Given the description of an element on the screen output the (x, y) to click on. 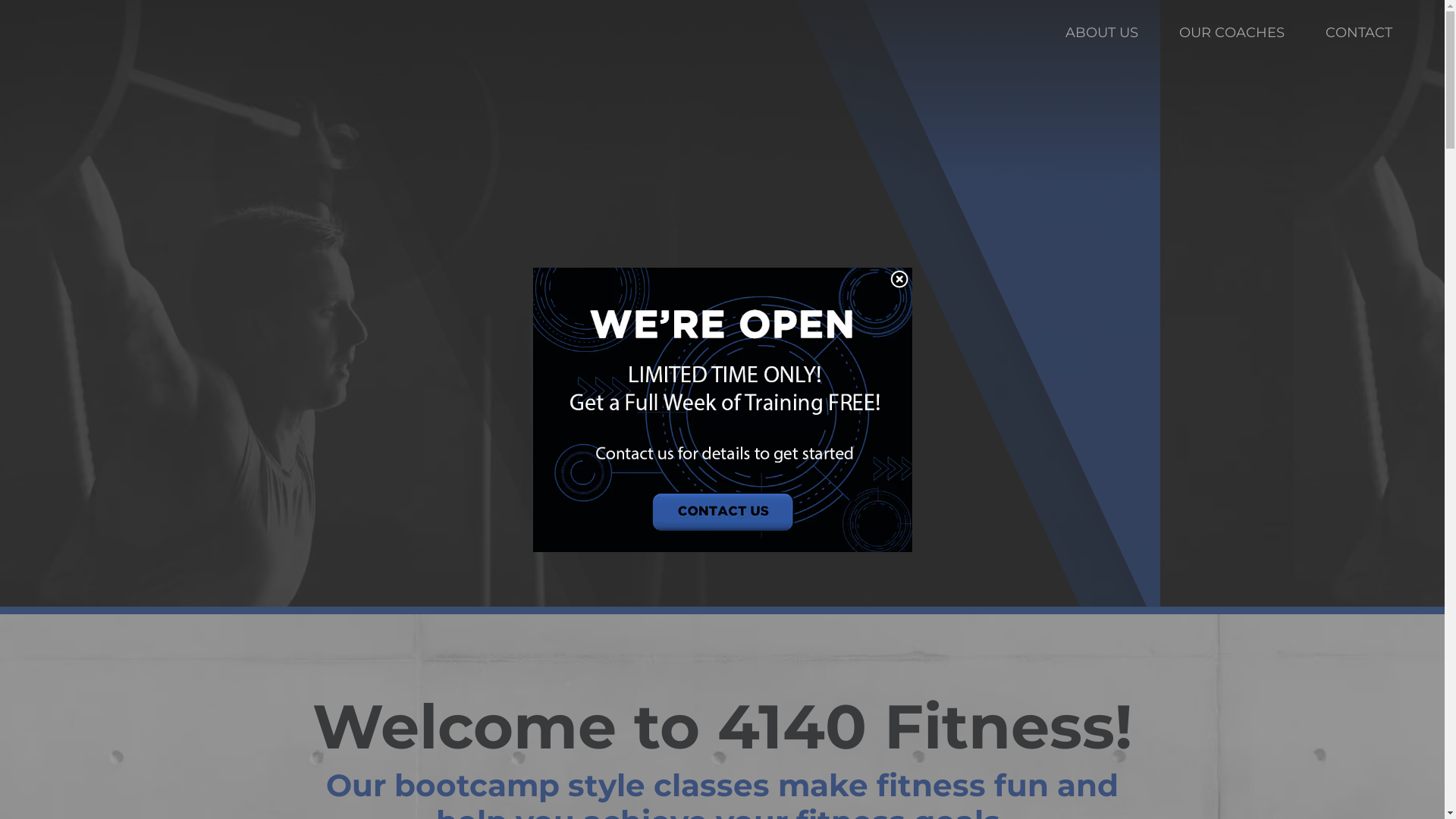
ABOUT US Element type: text (1101, 32)
Close Element type: hover (898, 279)
OUR COACHES Element type: text (1231, 32)
CONTACT Element type: text (1358, 32)
